Given the description of an element on the screen output the (x, y) to click on. 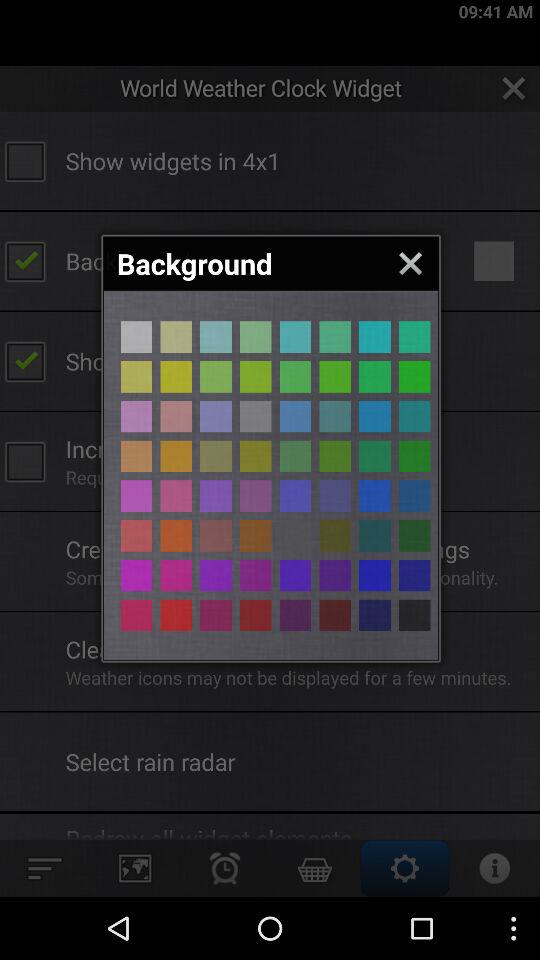
select this color (255, 575)
